Given the description of an element on the screen output the (x, y) to click on. 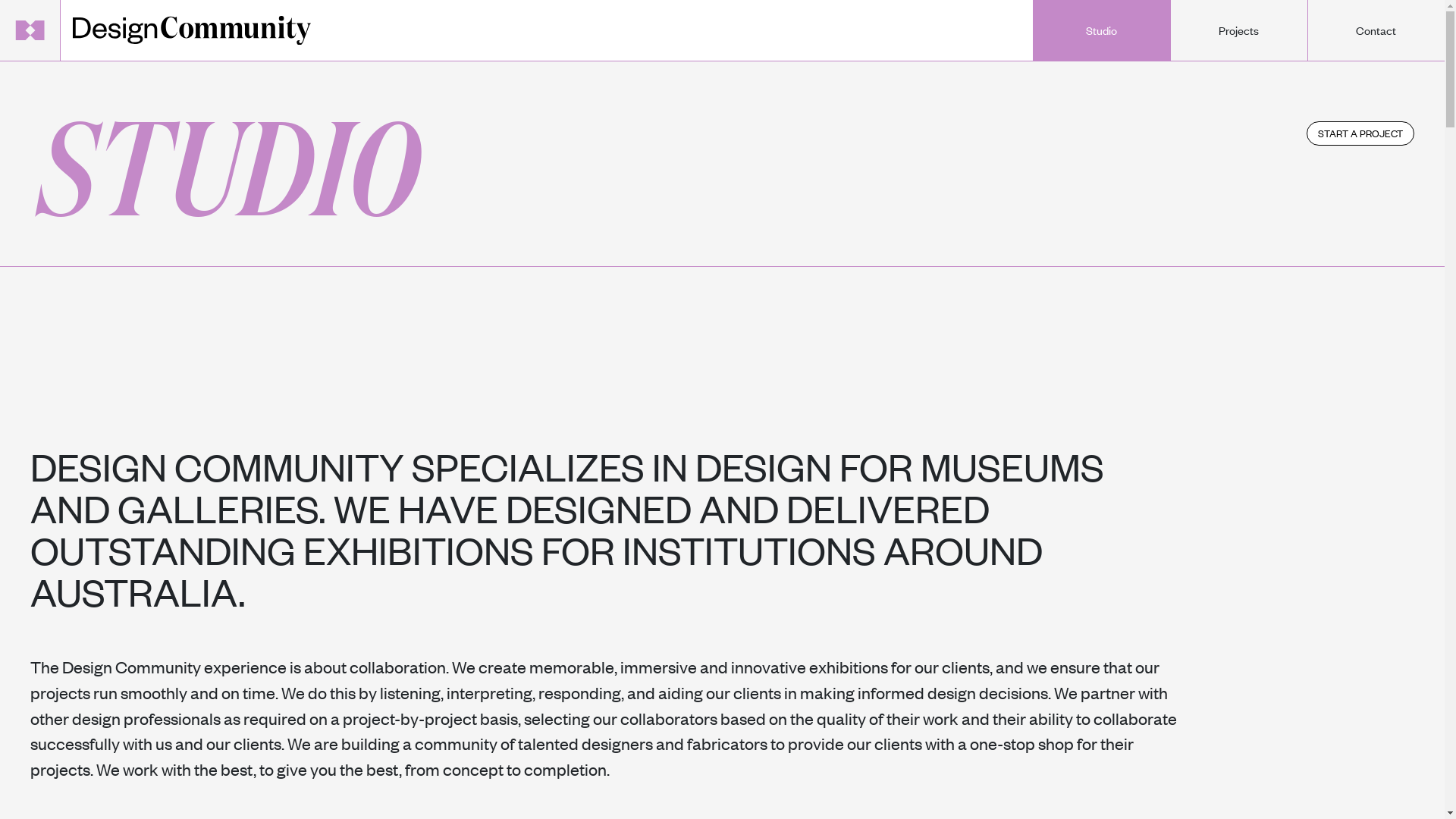
Projects Element type: text (1238, 30)
memorable Element type: text (571, 666)
Contact Element type: text (1375, 30)
START A PROJECT Element type: text (1360, 133)
innovative Element type: text (768, 666)
immersive Element type: text (658, 666)
Design Community Element type: text (191, 27)
Studio Element type: text (1101, 30)
